Given the description of an element on the screen output the (x, y) to click on. 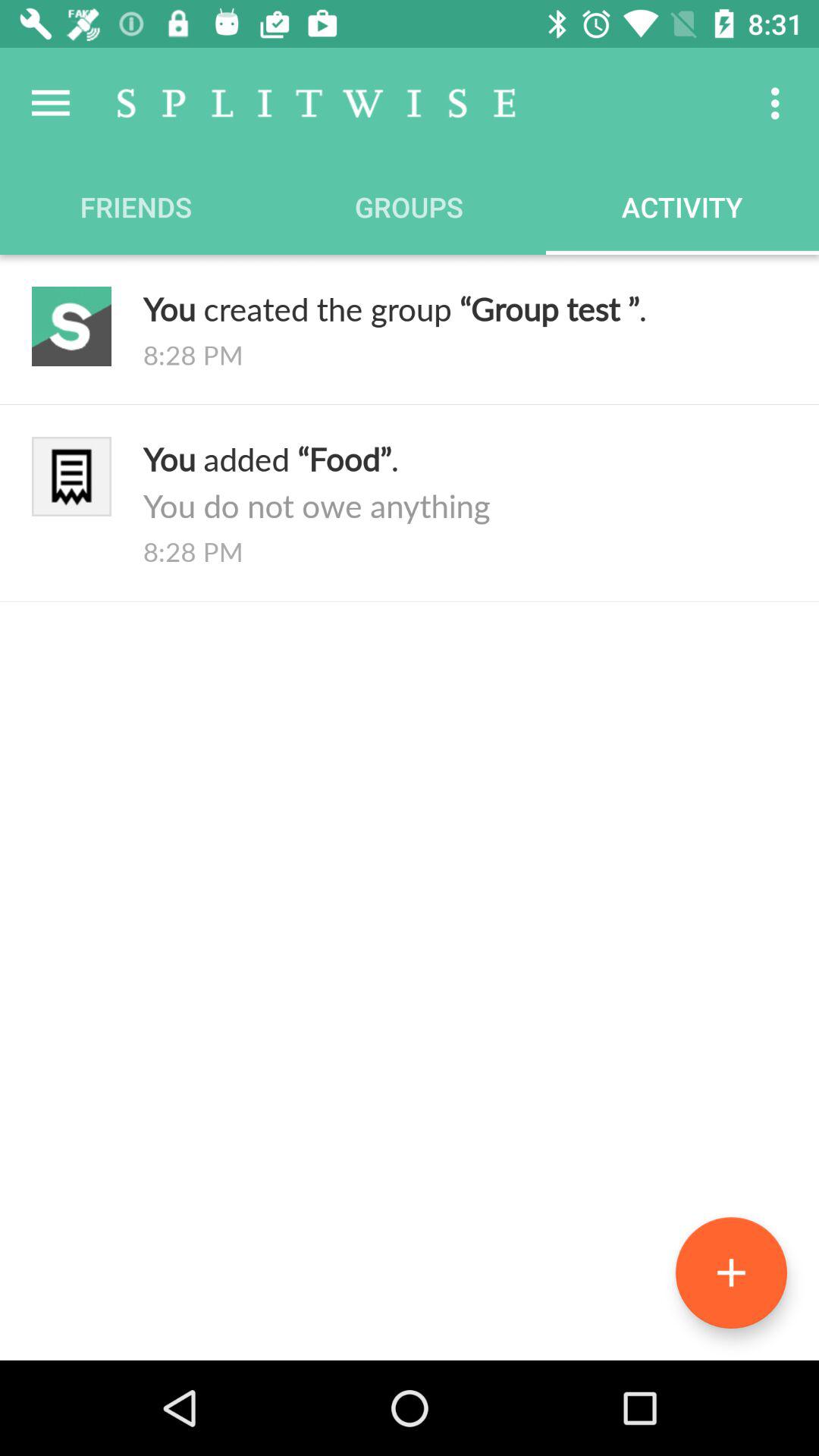
turn on the icon above the 8:28 pm (465, 481)
